Given the description of an element on the screen output the (x, y) to click on. 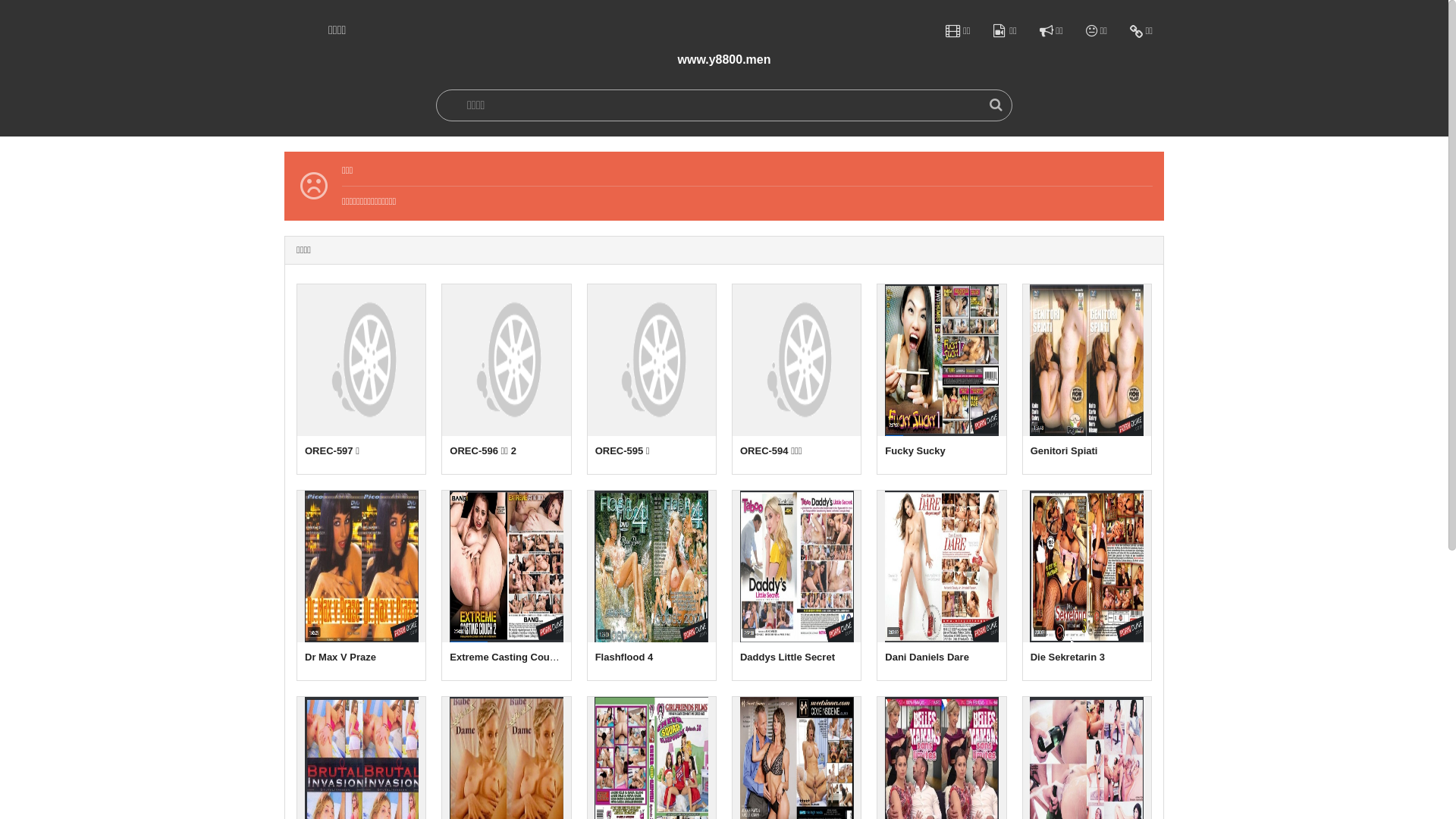
Extreme Casting Couch 2 Element type: text (506, 584)
Flashflood 4 Element type: text (651, 584)
Genitori Spiati Element type: text (1086, 378)
Fucky Sucky Element type: text (941, 378)
Dr Max V Praze Element type: text (361, 584)
Dani Daniels Dare Element type: text (941, 584)
Daddys Little Secret Element type: text (796, 584)
Die Sekretarin 3 Element type: text (1086, 584)
